Given the description of an element on the screen output the (x, y) to click on. 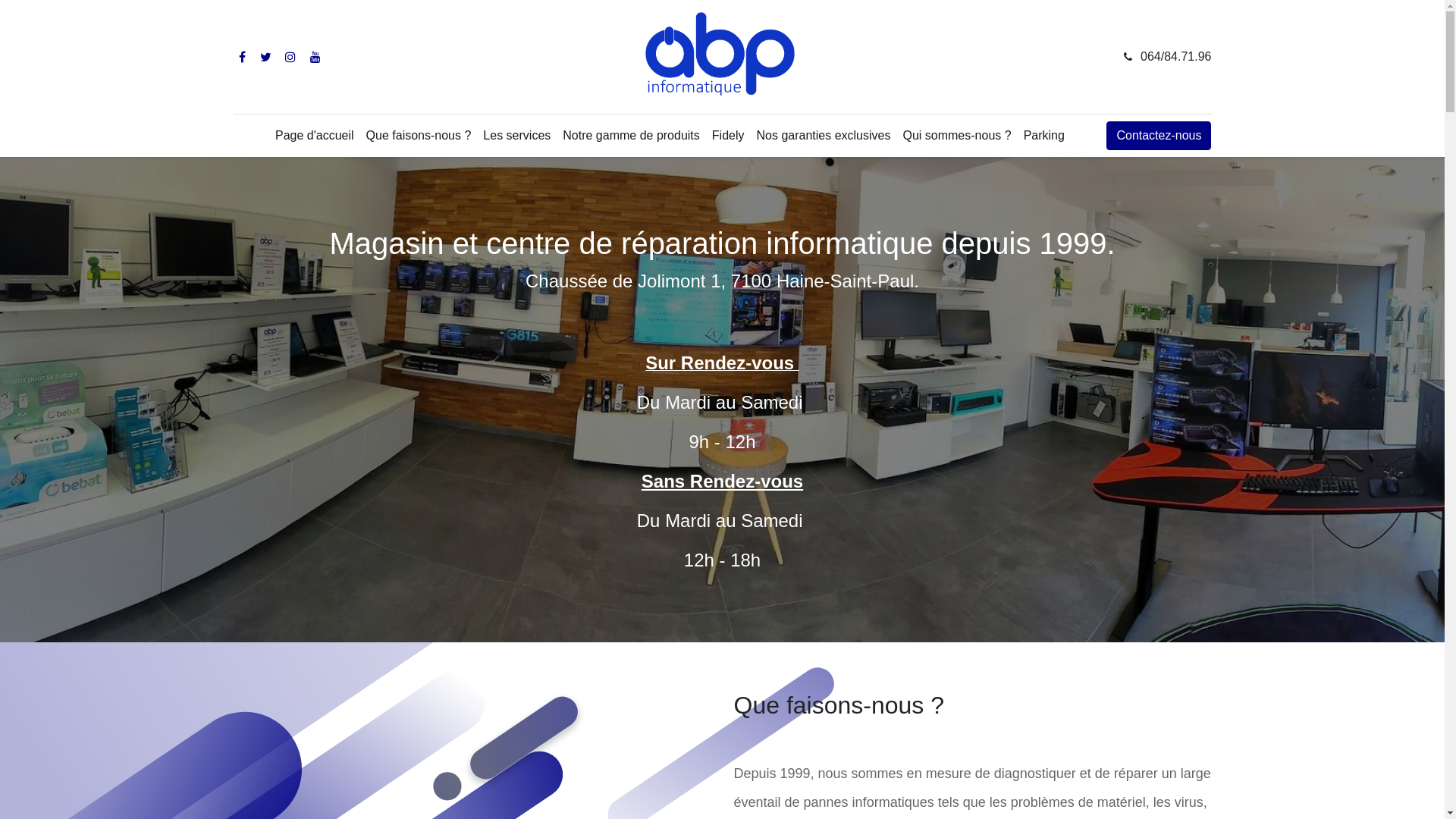
Que faisons-nous ? Element type: text (418, 135)
Page d'accueil Element type: text (314, 135)
Les services Element type: text (516, 135)
Qui sommes-nous ? Element type: text (956, 135)
Contactez-nous Element type: text (1158, 135)
Fidely Element type: text (728, 135)
Notre gamme de produits Element type: text (631, 135)
Nos garanties exclusives Element type: text (823, 135)
Parking Element type: text (1043, 135)
ABPInformatique1999 Element type: hover (721, 56)
